Given the description of an element on the screen output the (x, y) to click on. 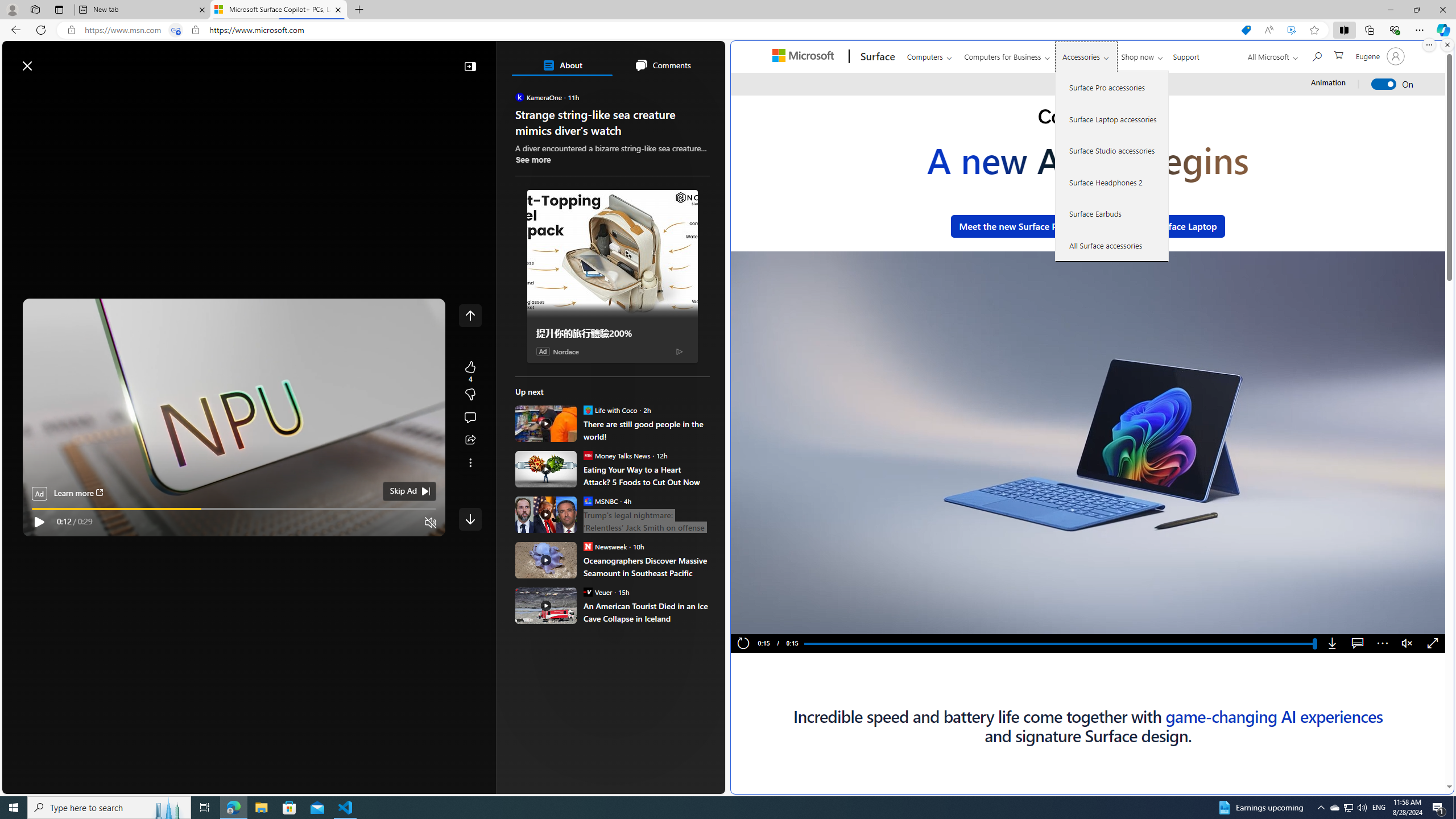
Download (1332, 643)
Pause (762, 621)
Surface (876, 56)
Life with Coco (587, 409)
More like this4Fewer like thisStart the conversation (469, 394)
Enhance video (1291, 29)
0 items in shopping cart (1338, 53)
Class: button-glyph (16, 92)
Skip Ad (403, 490)
